Given the description of an element on the screen output the (x, y) to click on. 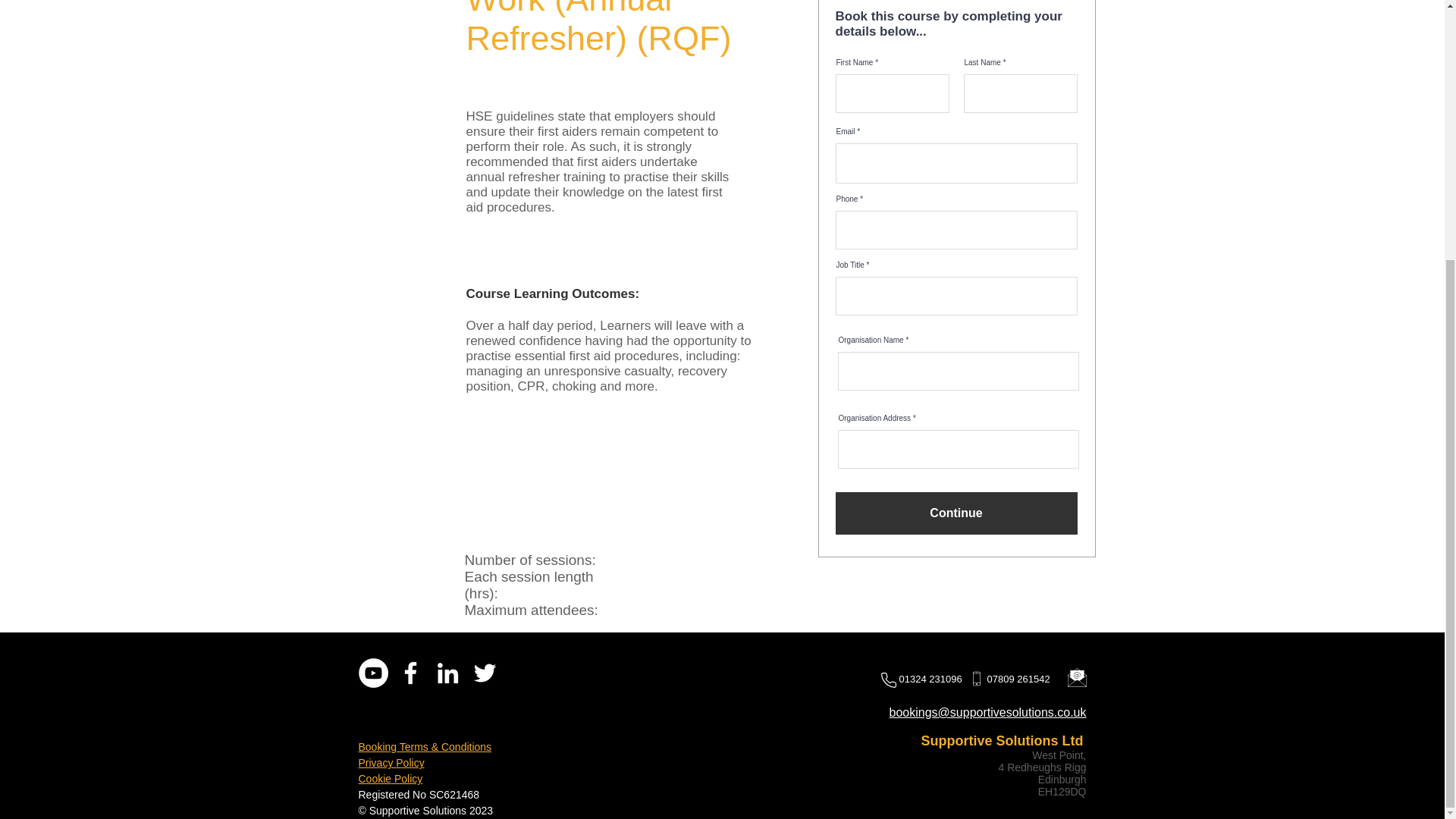
07809 261542  (1019, 678)
Continue (956, 513)
01324 231096  (932, 678)
